Given the description of an element on the screen output the (x, y) to click on. 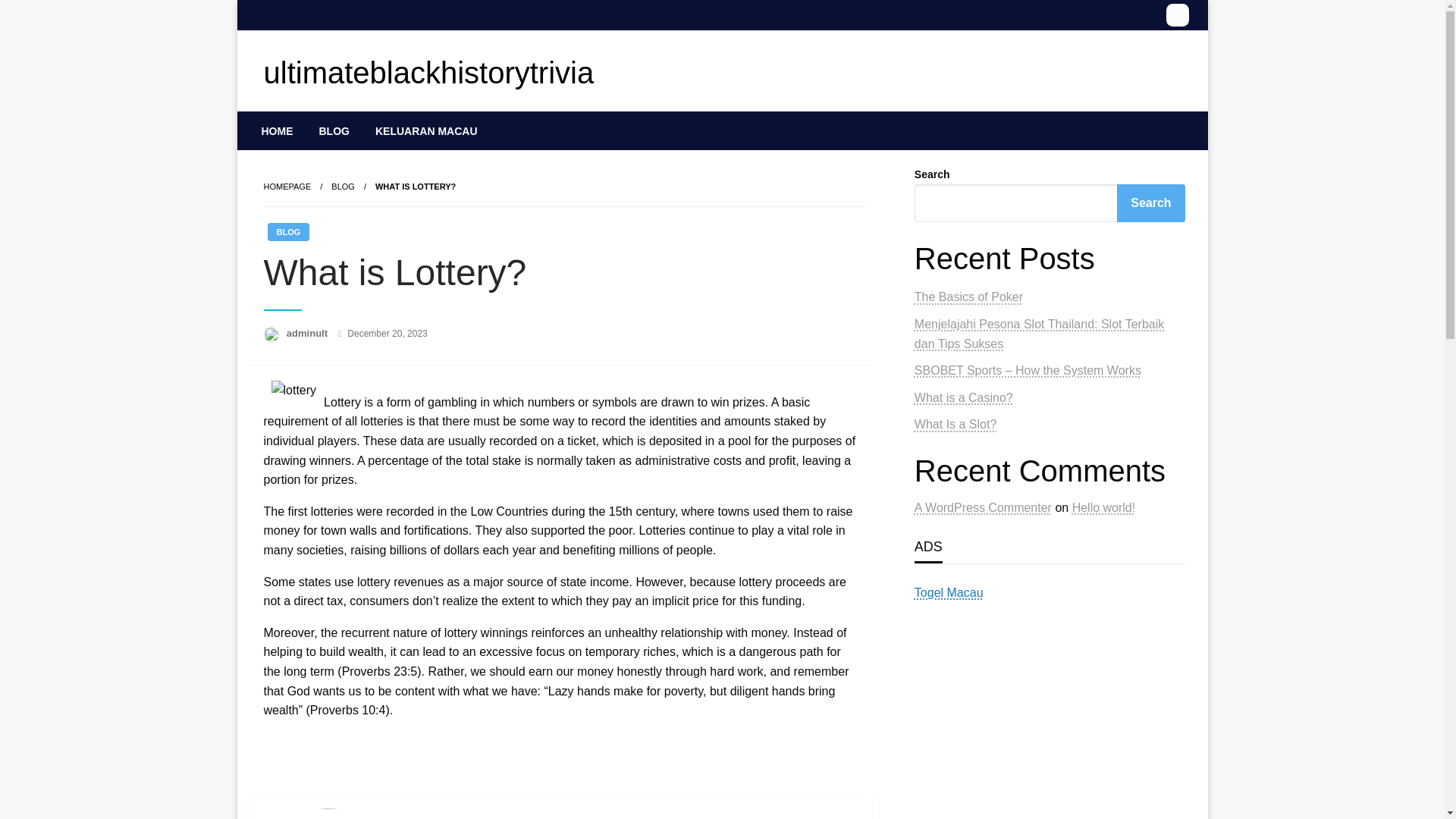
A WordPress Commenter (982, 487)
Togel Macau (949, 572)
Search (1150, 202)
BLOG (333, 130)
The Importance of Poker (981, 350)
adminult (308, 333)
How to Choose a Sportsbook (992, 296)
Hello world! (1103, 487)
The Dark Side of Casinos (983, 404)
BLOG (343, 185)
HOME (276, 130)
The Risks of Playing the Lottery (1000, 323)
Sbobet Review (954, 377)
Blog (343, 185)
Homepage (287, 185)
